Given the description of an element on the screen output the (x, y) to click on. 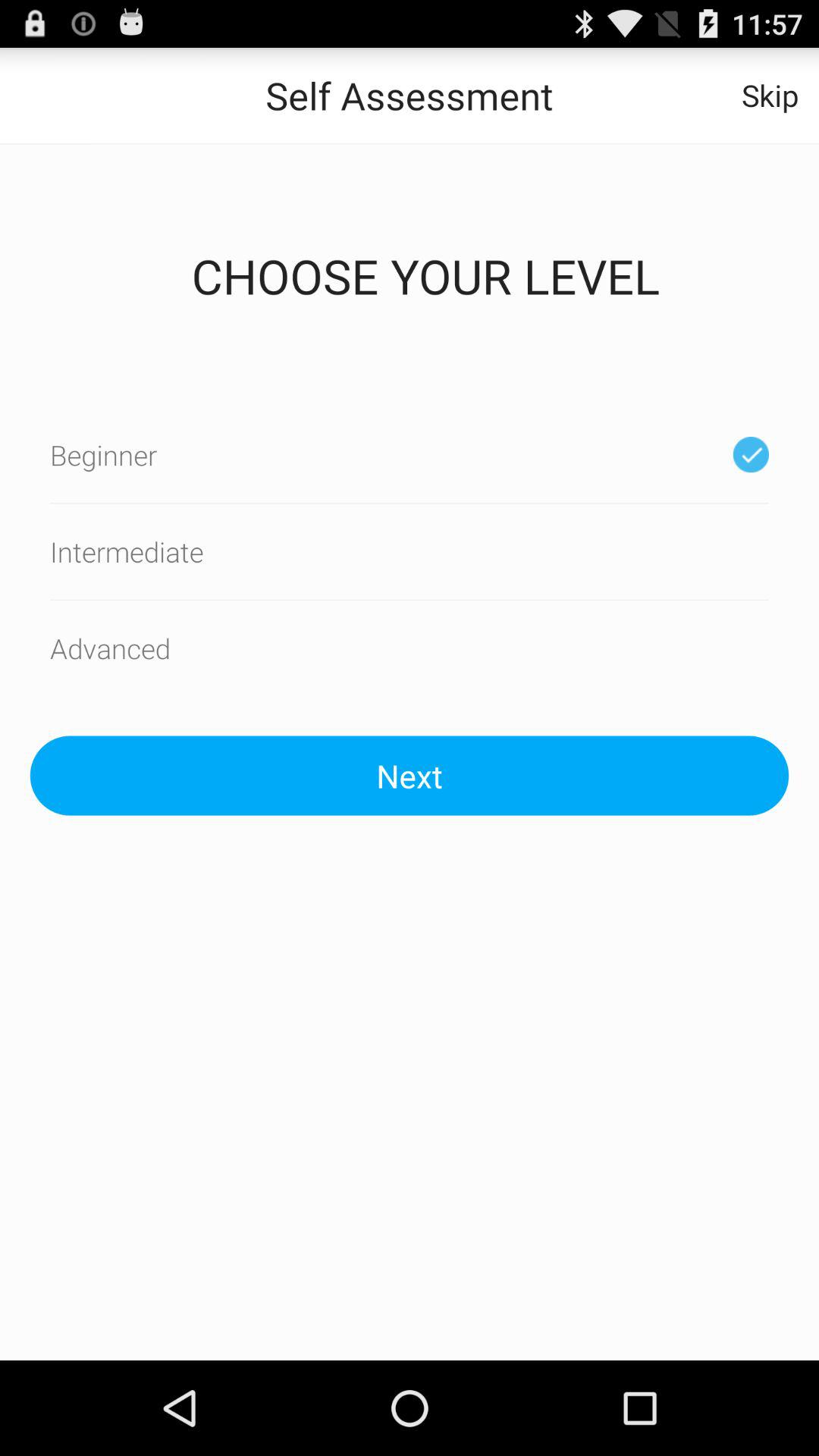
click the skip (770, 95)
